Given the description of an element on the screen output the (x, y) to click on. 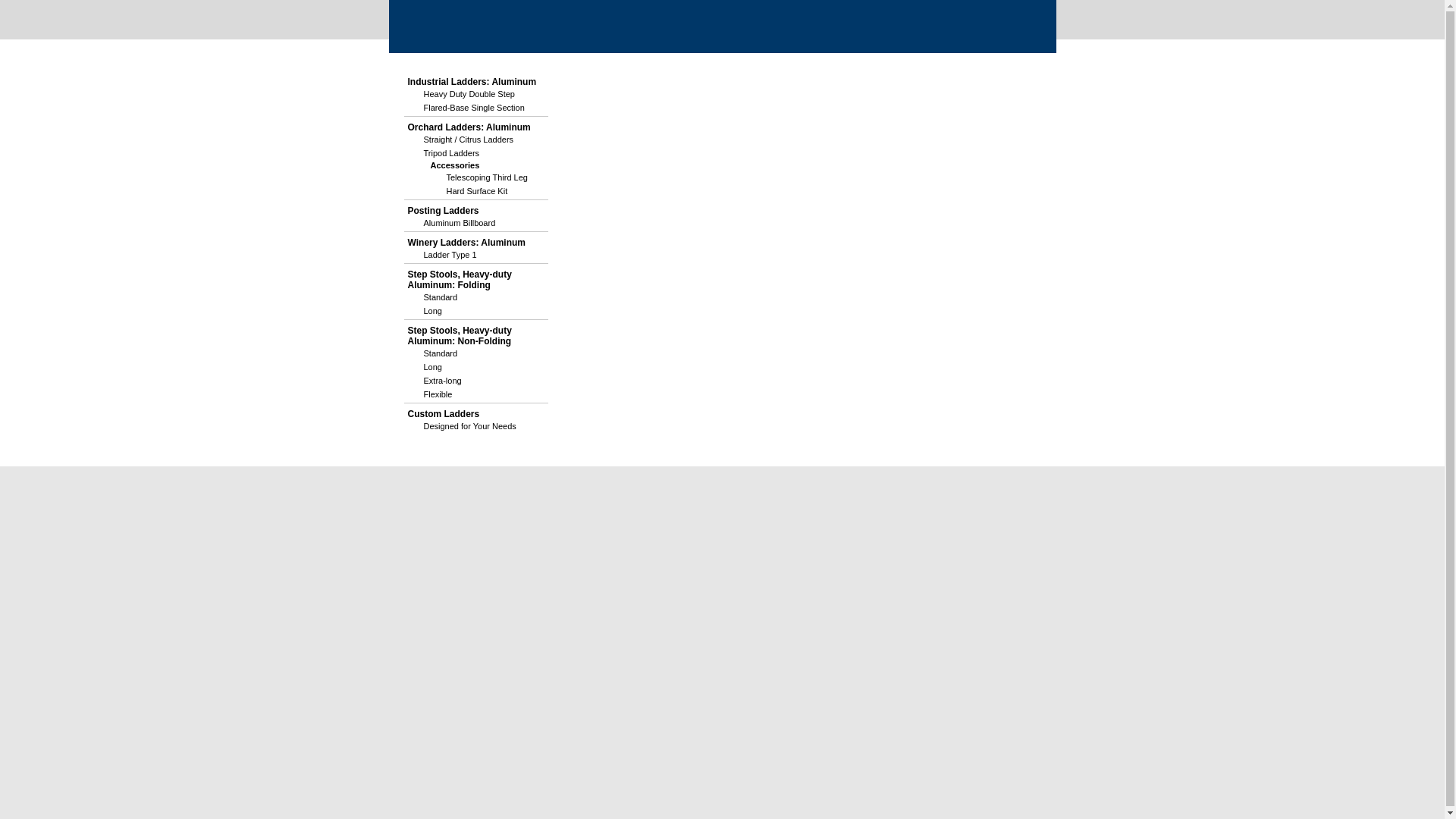
Ladder Type 1 (475, 254)
Hard Surface Kit (487, 191)
Tripod Ladders (475, 152)
Designed for Your Needs (475, 426)
Standard (475, 353)
Telescoping Third Leg (487, 177)
Flexible (475, 394)
Long (475, 366)
Extra-long (475, 380)
Aluminum Billboard (475, 223)
Long (475, 310)
Heavy Duty Double Step (475, 93)
Flared-Base Single Section (475, 107)
Standard (475, 296)
